Given the description of an element on the screen output the (x, y) to click on. 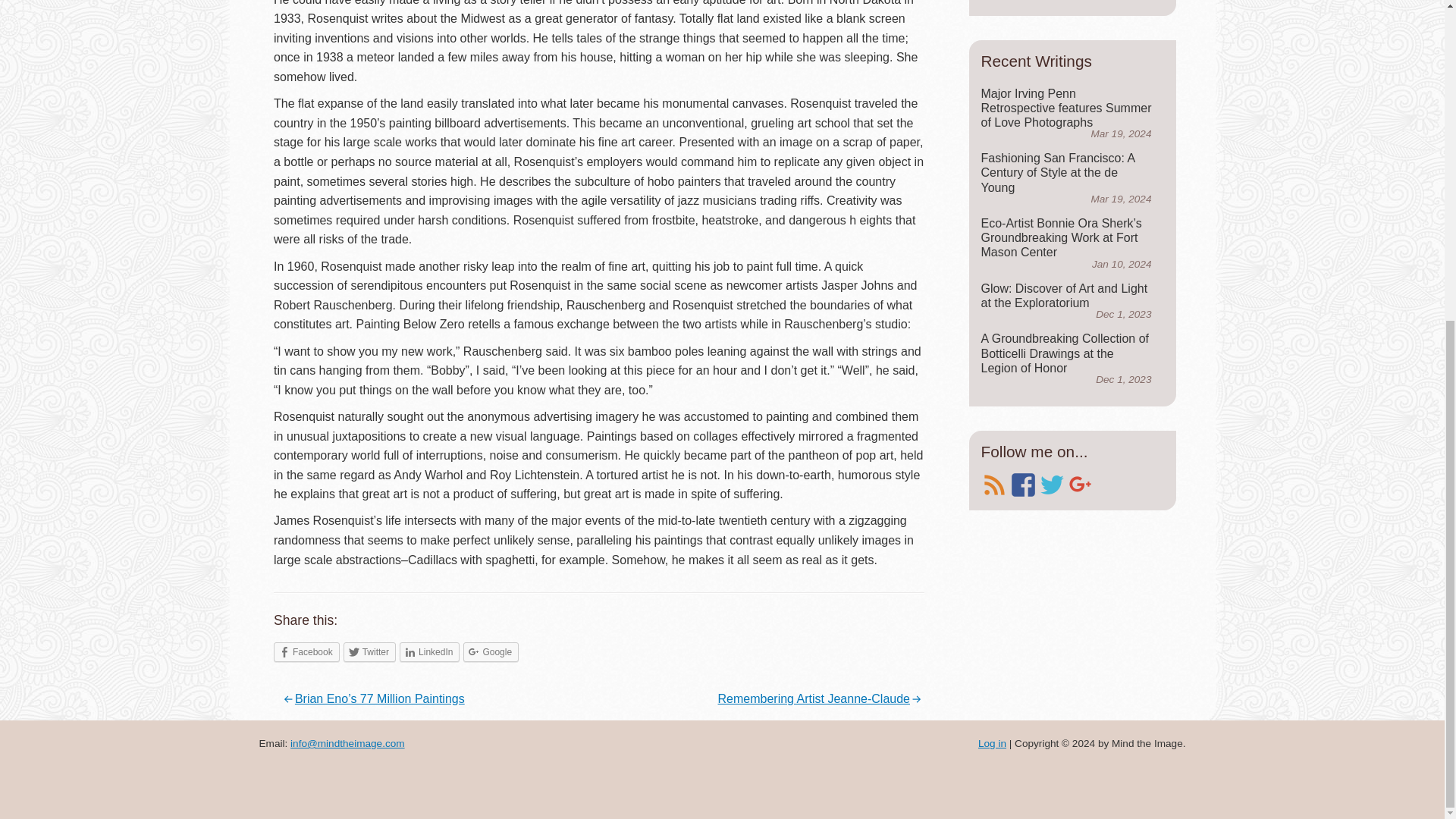
Click to share on LinkedIn (429, 651)
Click to share on Facebook (306, 651)
Click to share on Twitter (369, 651)
RSS Feed for entire site (994, 484)
Facebook (306, 651)
Next (820, 698)
LinkedIn (429, 651)
Facebook (1023, 484)
Previous (372, 698)
Twitter (369, 651)
Facebook (1023, 484)
